Given the description of an element on the screen output the (x, y) to click on. 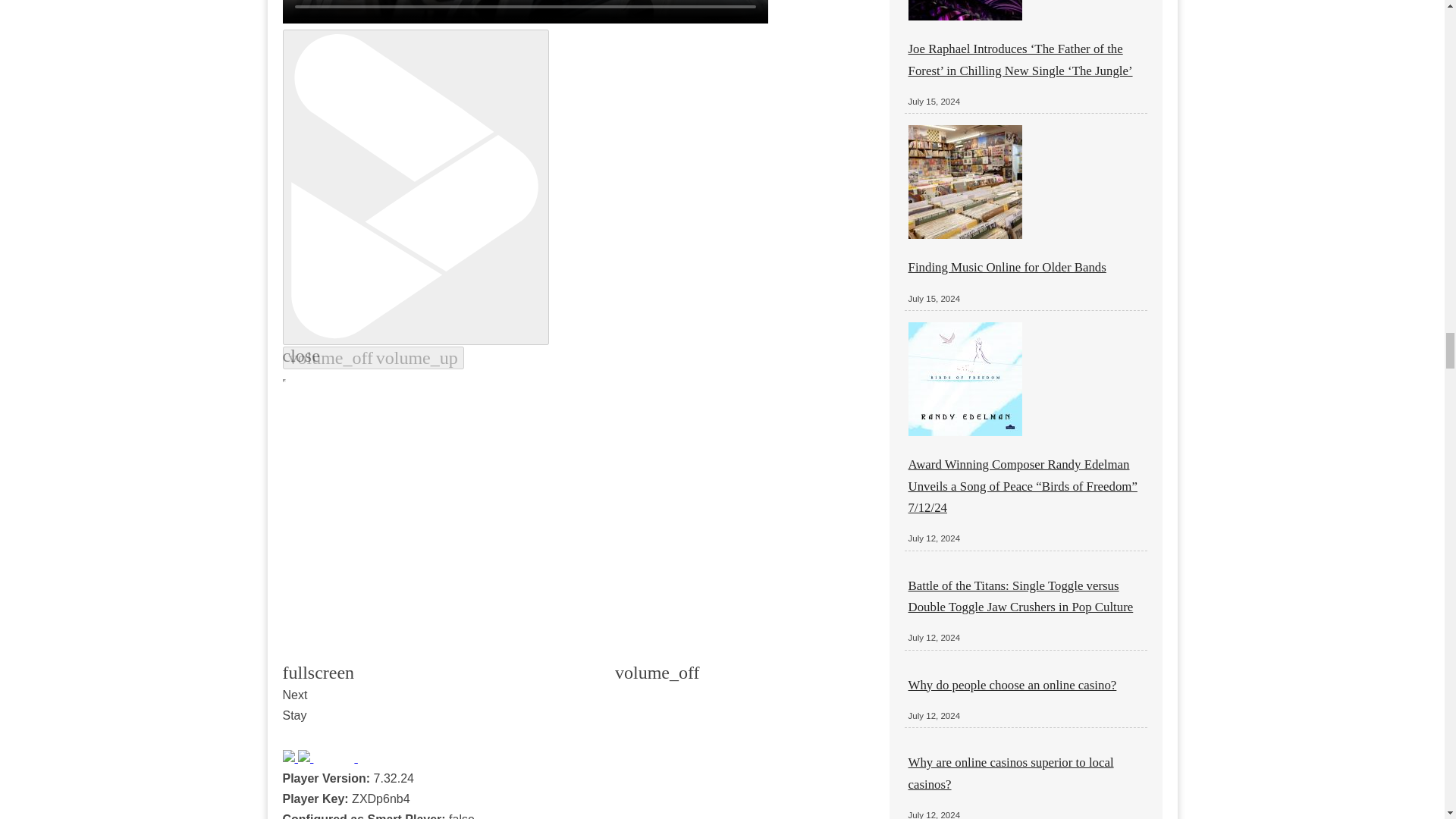
Why do people choose an online casino? (1012, 685)
Why are online casinos superior to local casinos? (1010, 773)
Finding Music Online for Older Bands (1007, 267)
